Given the description of an element on the screen output the (x, y) to click on. 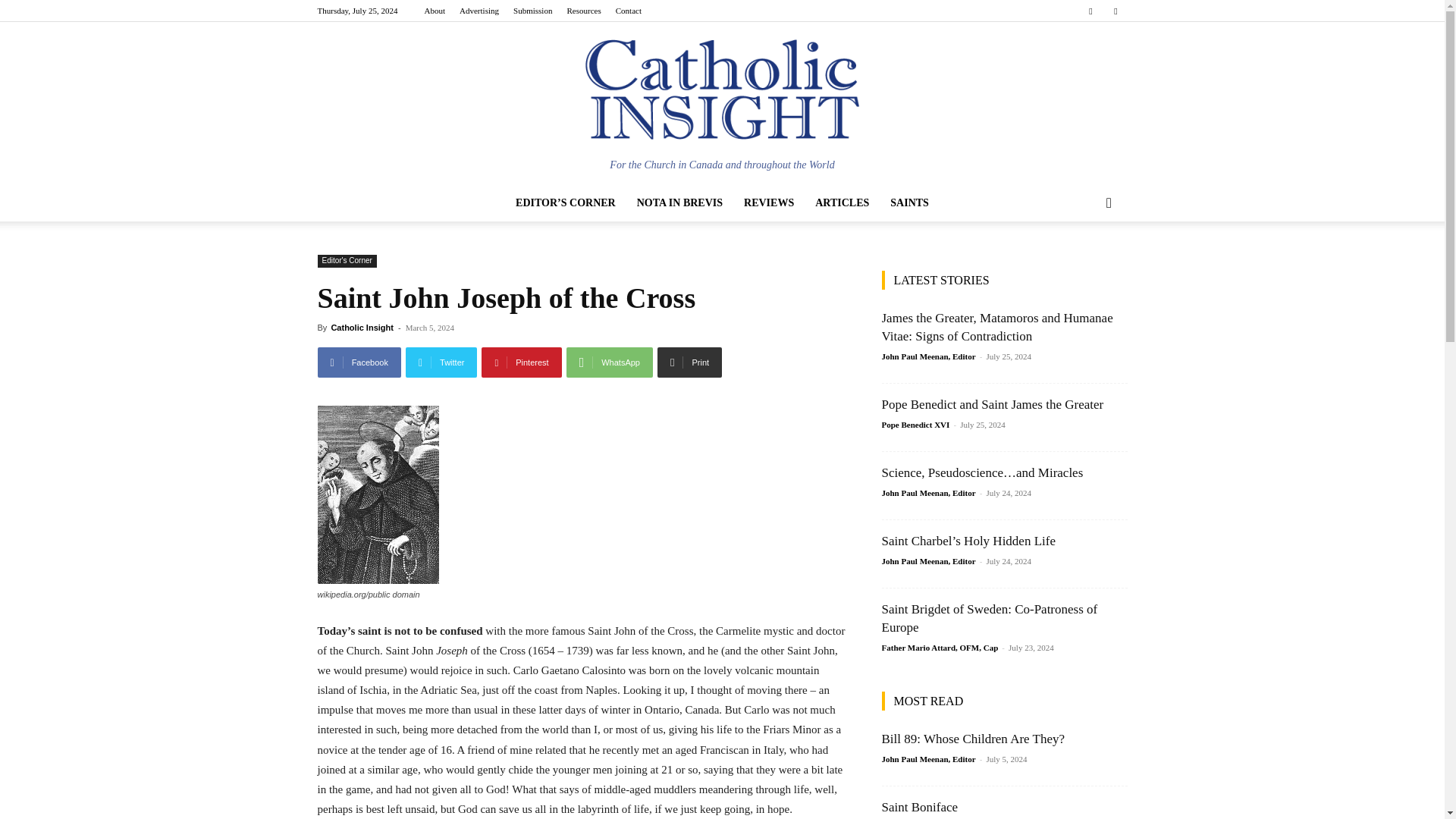
Twitter (441, 362)
Editor's Corner (346, 260)
Catholic Insight (361, 327)
Print (690, 362)
NOTA IN BREVIS (679, 203)
Resources (582, 10)
Catholic Insight (721, 97)
WhatsApp (609, 362)
Search (1085, 263)
Facebook (1090, 10)
About (434, 10)
Contact (628, 10)
Facebook (358, 362)
REVIEWS (769, 203)
Twitter (1114, 10)
